Given the description of an element on the screen output the (x, y) to click on. 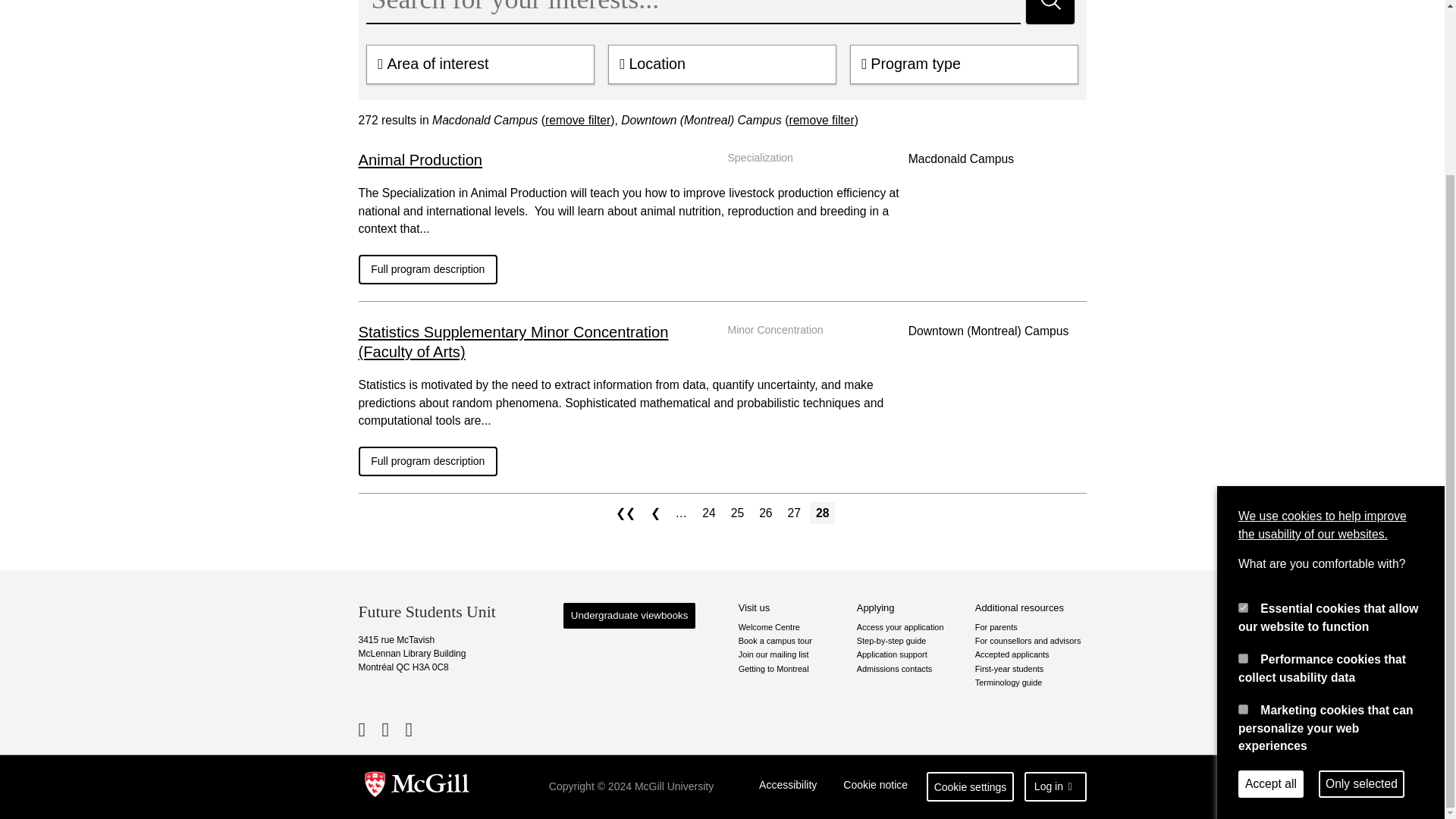
Search (1050, 12)
marketing (1243, 497)
required (1243, 396)
Search (1050, 12)
performance (1243, 447)
